Given the description of an element on the screen output the (x, y) to click on. 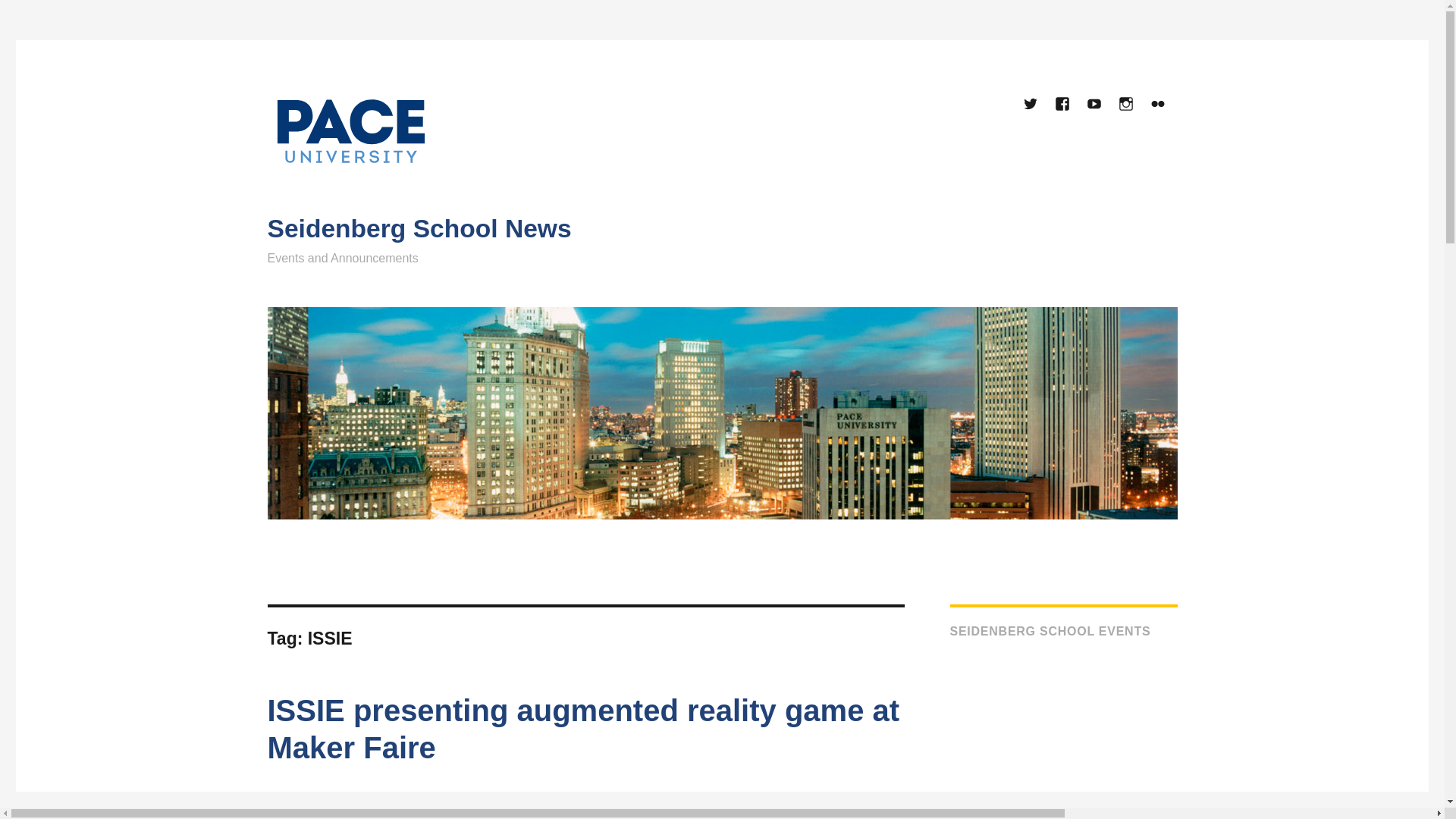
facebook (1062, 104)
ISSIE presenting augmented reality game at Maker Faire (582, 728)
Seidenberg School News (418, 228)
flickr (1158, 104)
twitter (1030, 104)
instagram (1126, 104)
youtube (1094, 104)
